Given the description of an element on the screen output the (x, y) to click on. 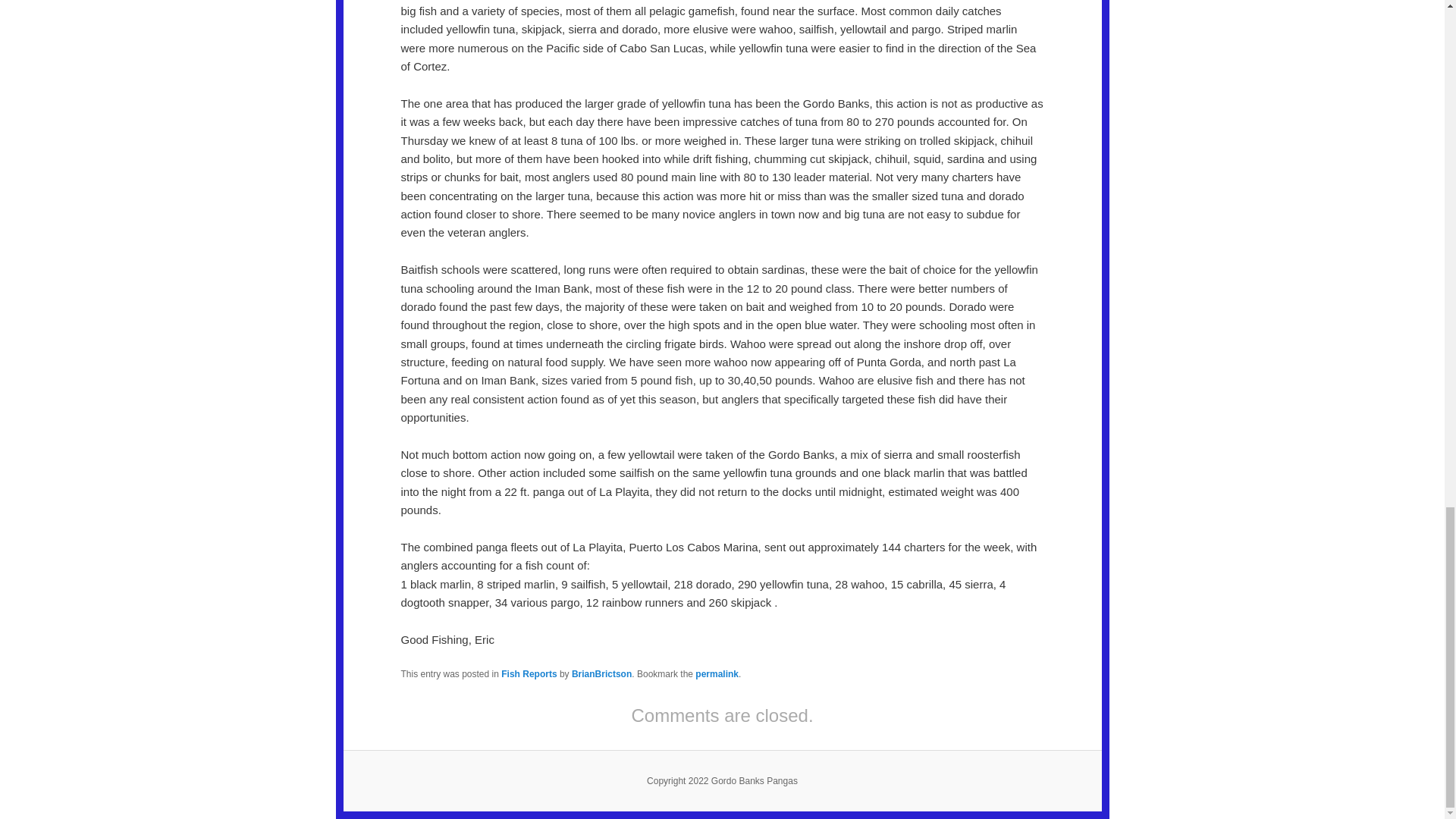
Fish Reports (528, 674)
BrianBrictson (601, 674)
Permalink to December 1, 2012 (716, 674)
permalink (716, 674)
